Given the description of an element on the screen output the (x, y) to click on. 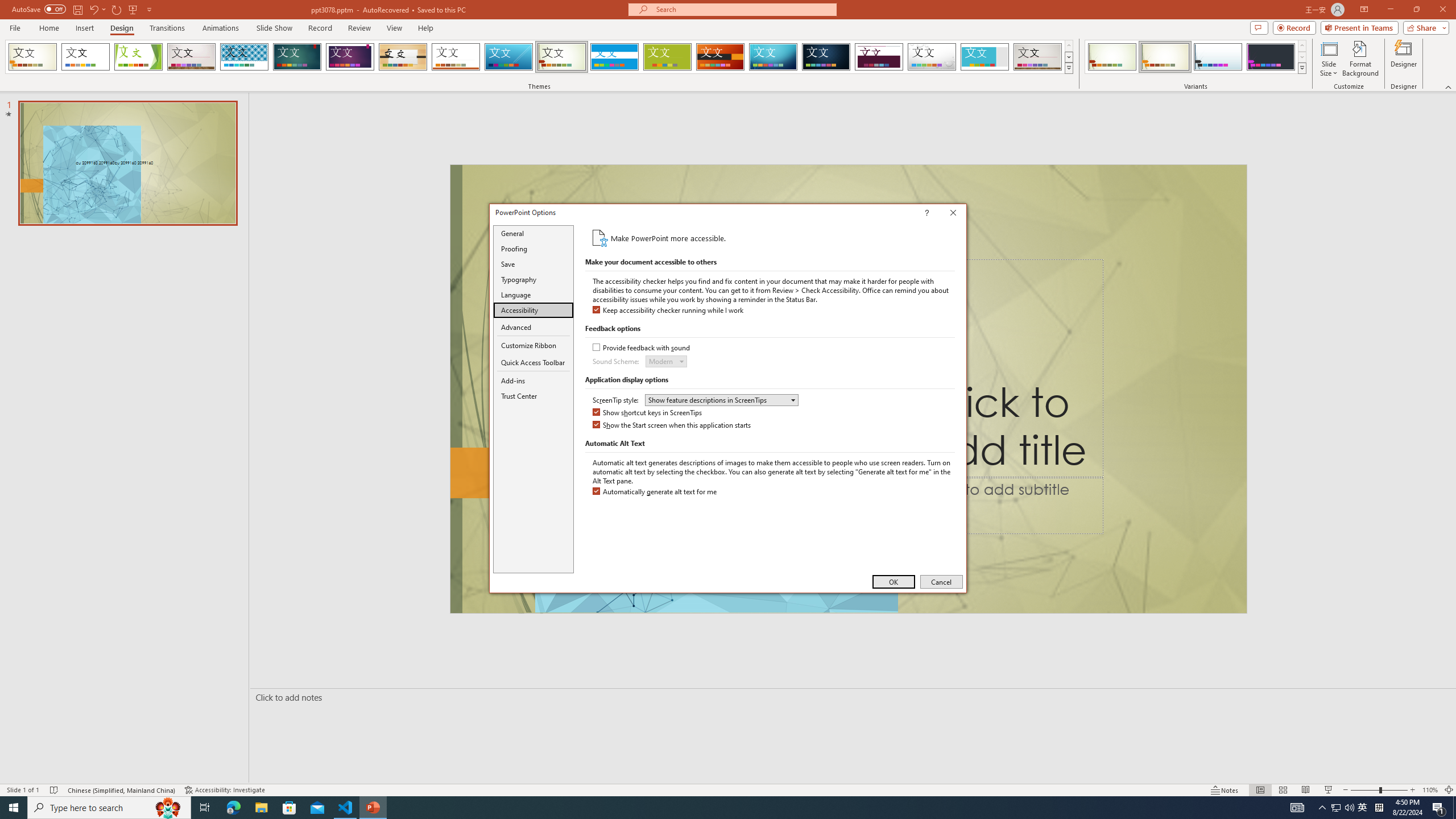
Variants (1301, 67)
Wisp Variant 1 (1112, 56)
Slice Loading Preview... (508, 56)
Dividend Loading Preview... (879, 56)
General (533, 233)
Context help (943, 214)
